Given the description of an element on the screen output the (x, y) to click on. 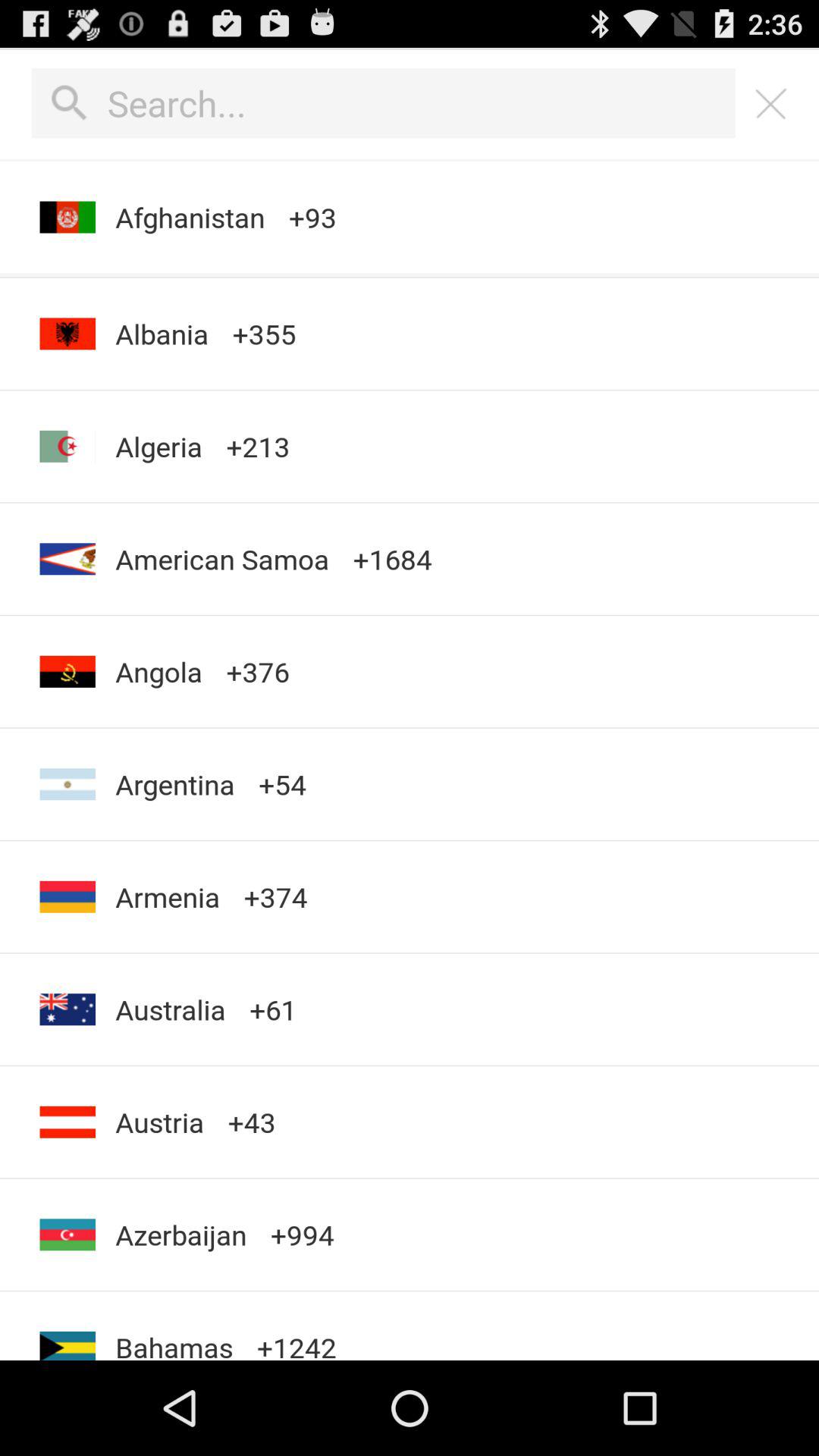
turn on the item below american samoa app (158, 671)
